Given the description of an element on the screen output the (x, y) to click on. 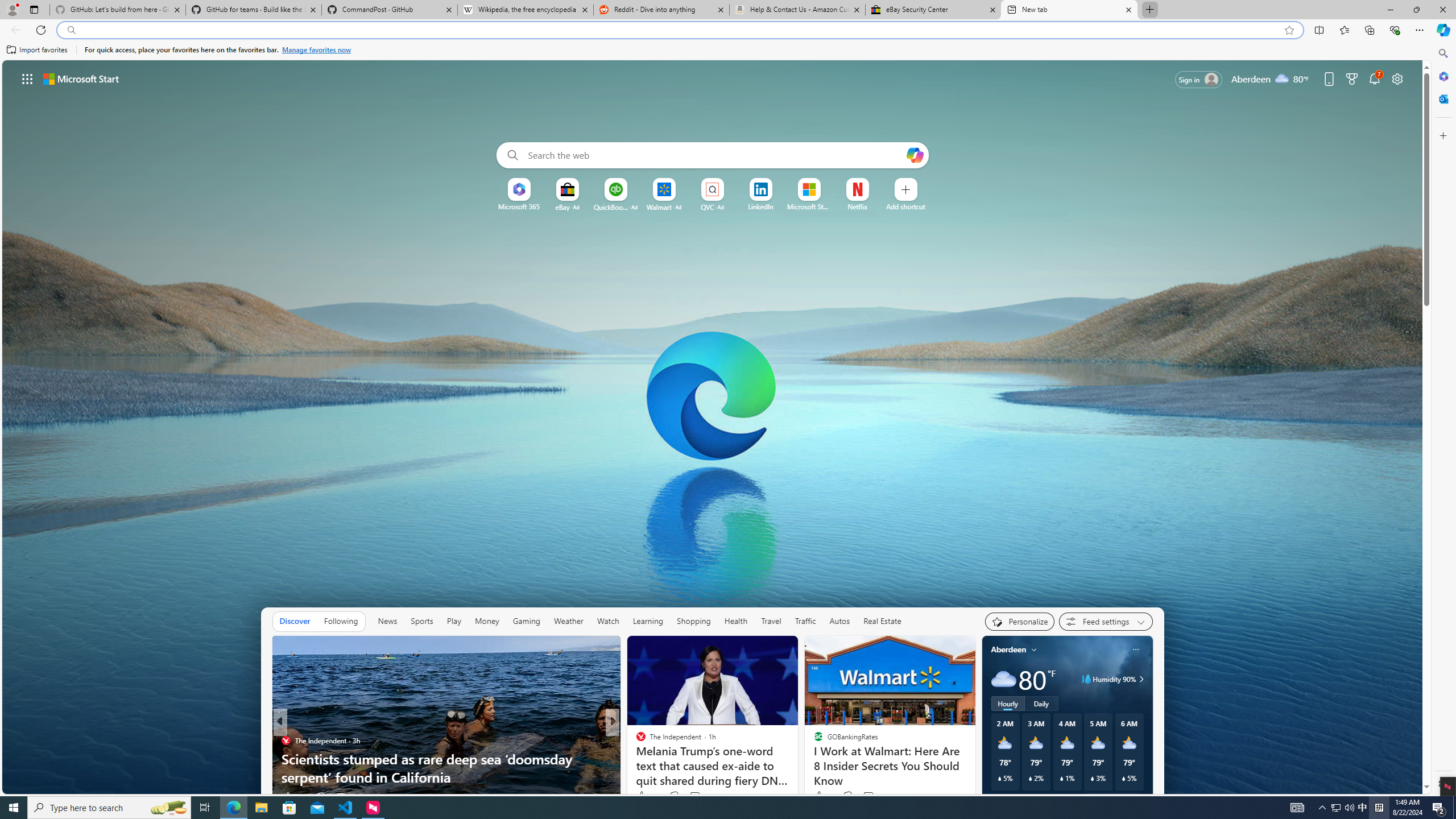
Daily (1041, 703)
The Telegraph (635, 740)
Hourly (1007, 703)
Class: weather-arrow-glyph (1141, 678)
View comments 161 Comment (867, 795)
Learning (648, 621)
